Given the description of an element on the screen output the (x, y) to click on. 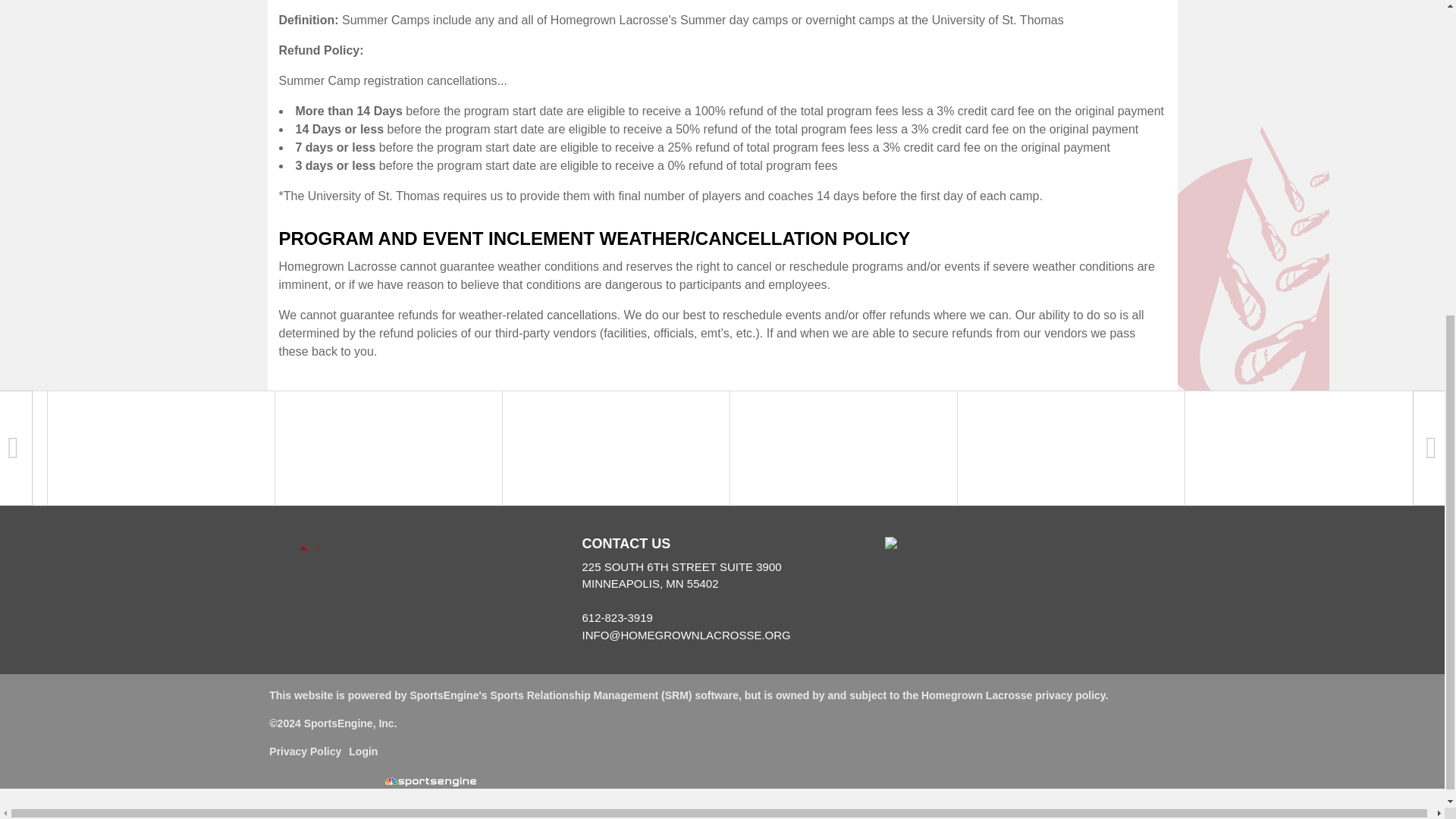
Sports Relationship Management (573, 695)
Privacy Policy (304, 751)
Login (363, 751)
